Given the description of an element on the screen output the (x, y) to click on. 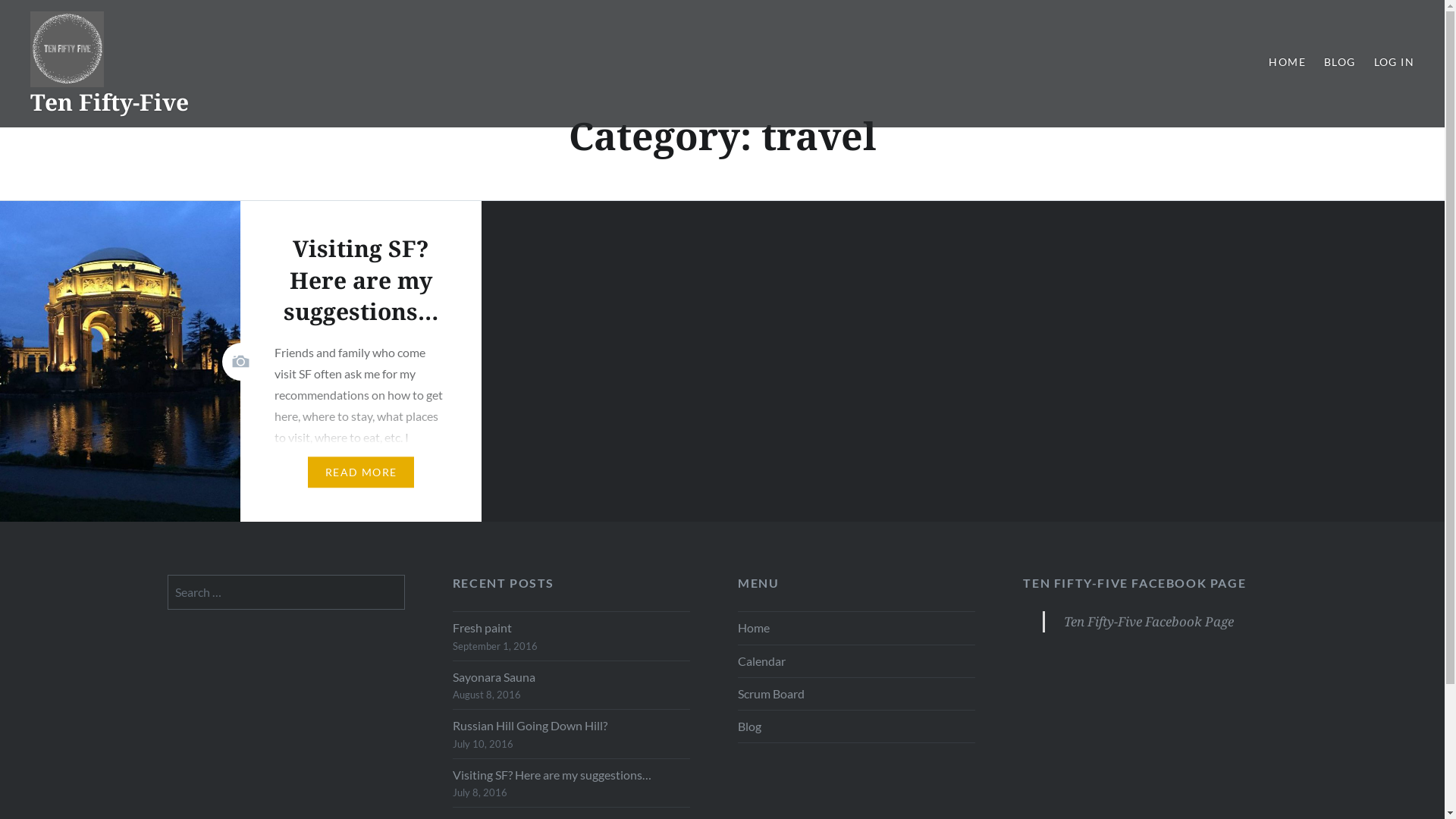
Fresh paint Element type: text (571, 627)
Sayonara Sauna Element type: text (571, 677)
TEN FIFTY-FIVE FACEBOOK PAGE Element type: text (1133, 582)
Search Element type: text (141, 19)
Ten Fifty-Five Element type: text (109, 101)
Blog Element type: text (856, 726)
READ MORE Element type: text (360, 472)
LOG IN Element type: text (1394, 62)
Ten Fifty-Five Facebook Page Element type: text (1148, 621)
HOME Element type: text (1286, 62)
Home Element type: text (856, 627)
Calendar Element type: text (856, 661)
Scrum Board Element type: text (856, 693)
Russian Hill Going Down Hill? Element type: text (571, 725)
BLOG Element type: text (1339, 62)
